Given the description of an element on the screen output the (x, y) to click on. 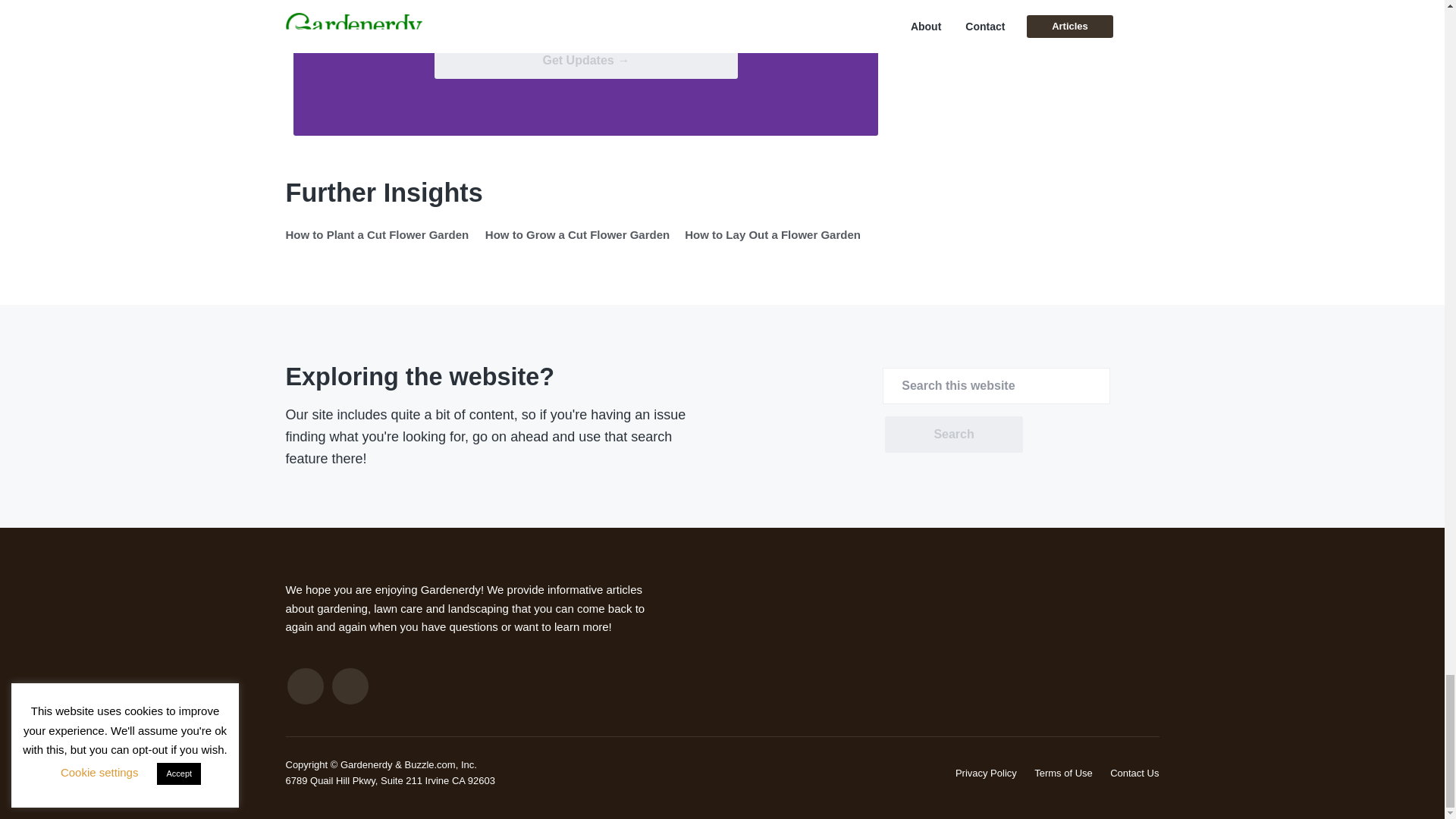
Permanent Link to How to Lay Out a Flower Garden (772, 234)
Permanent Link to How to Grow a Cut Flower Garden (576, 234)
Search (953, 434)
How to Plant a Cut Flower Garden (376, 234)
How to Lay Out a Flower Garden (772, 234)
Permanent Link to How to Plant a Cut Flower Garden (376, 234)
Search (953, 434)
How to Grow a Cut Flower Garden (576, 234)
